Given the description of an element on the screen output the (x, y) to click on. 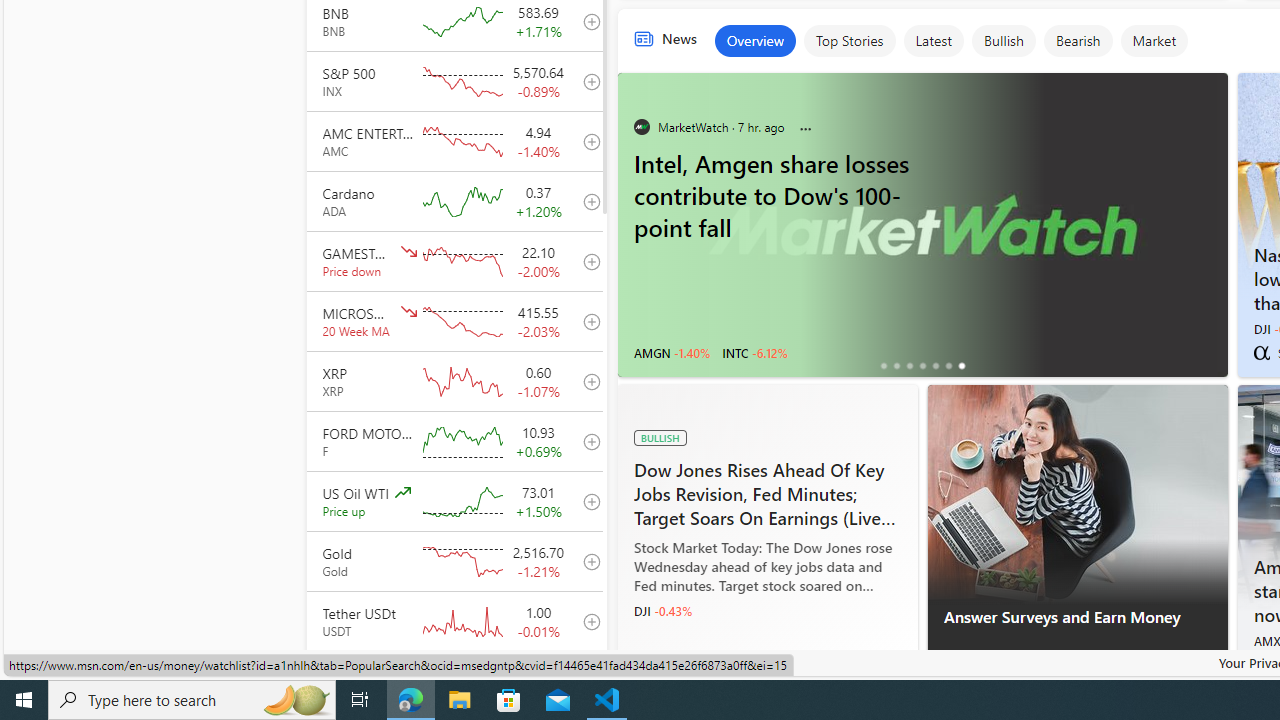
add to your watchlist (586, 681)
INTC -6.12% (754, 352)
MarketWatch (1261, 664)
AdChoices (1211, 669)
Bearish (1078, 40)
DJI -0.43% (662, 611)
Answer Surveys and Earn Money (1077, 628)
Investor's Business Daily (641, 664)
